Given the description of an element on the screen output the (x, y) to click on. 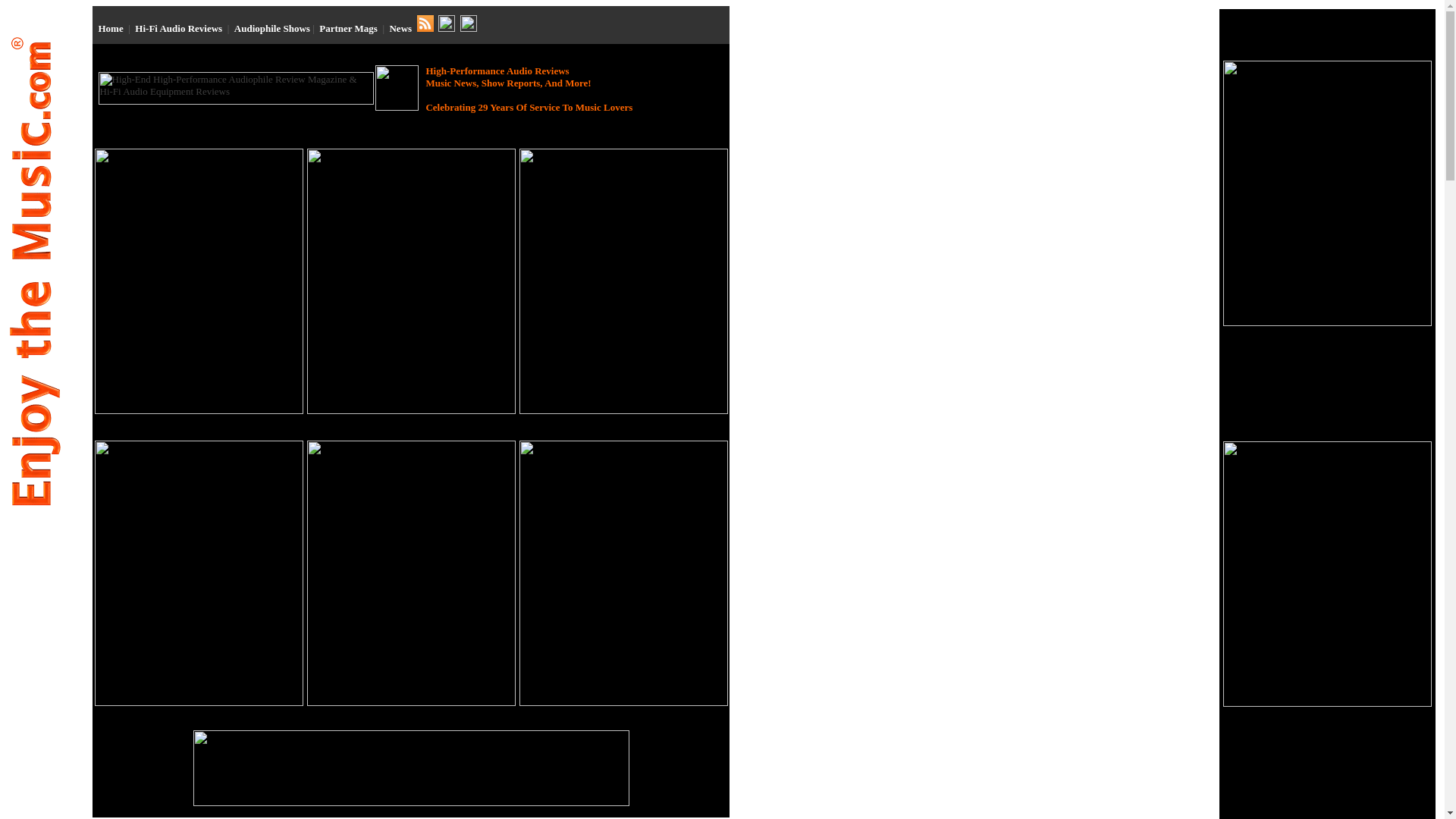
Home (111, 28)
Hi-Fi Audio Reviews (178, 28)
Partner Mags (347, 28)
News (400, 28)
Audiophile Shows (272, 28)
